Given the description of an element on the screen output the (x, y) to click on. 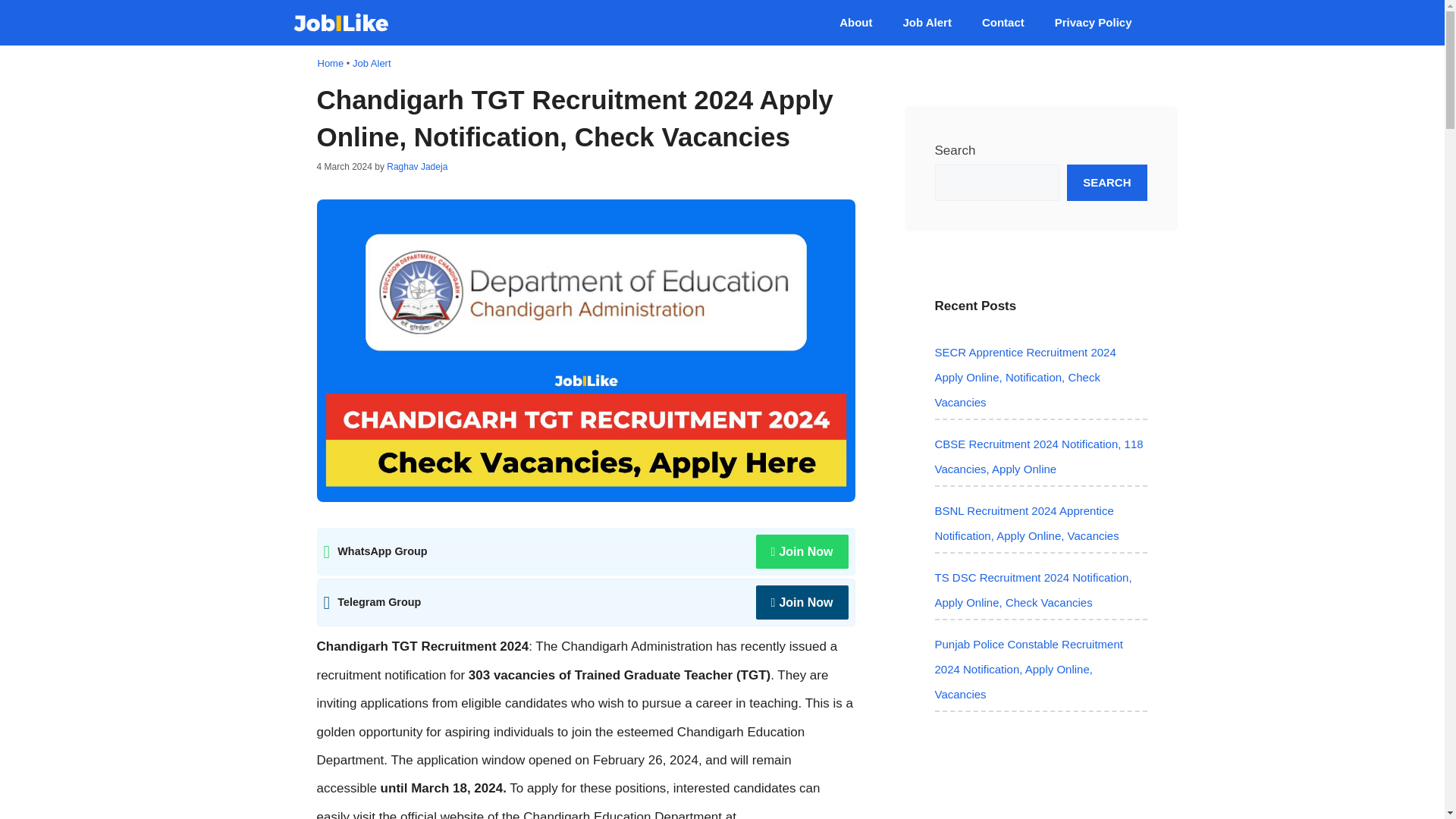
Job Alert (926, 22)
Contact (1002, 22)
Privacy Policy (1093, 22)
Job Alert (371, 62)
About (855, 22)
Raghav Jadeja (416, 166)
View all posts by Raghav Jadeja (416, 166)
Home (330, 62)
Join Now (801, 602)
